Given the description of an element on the screen output the (x, y) to click on. 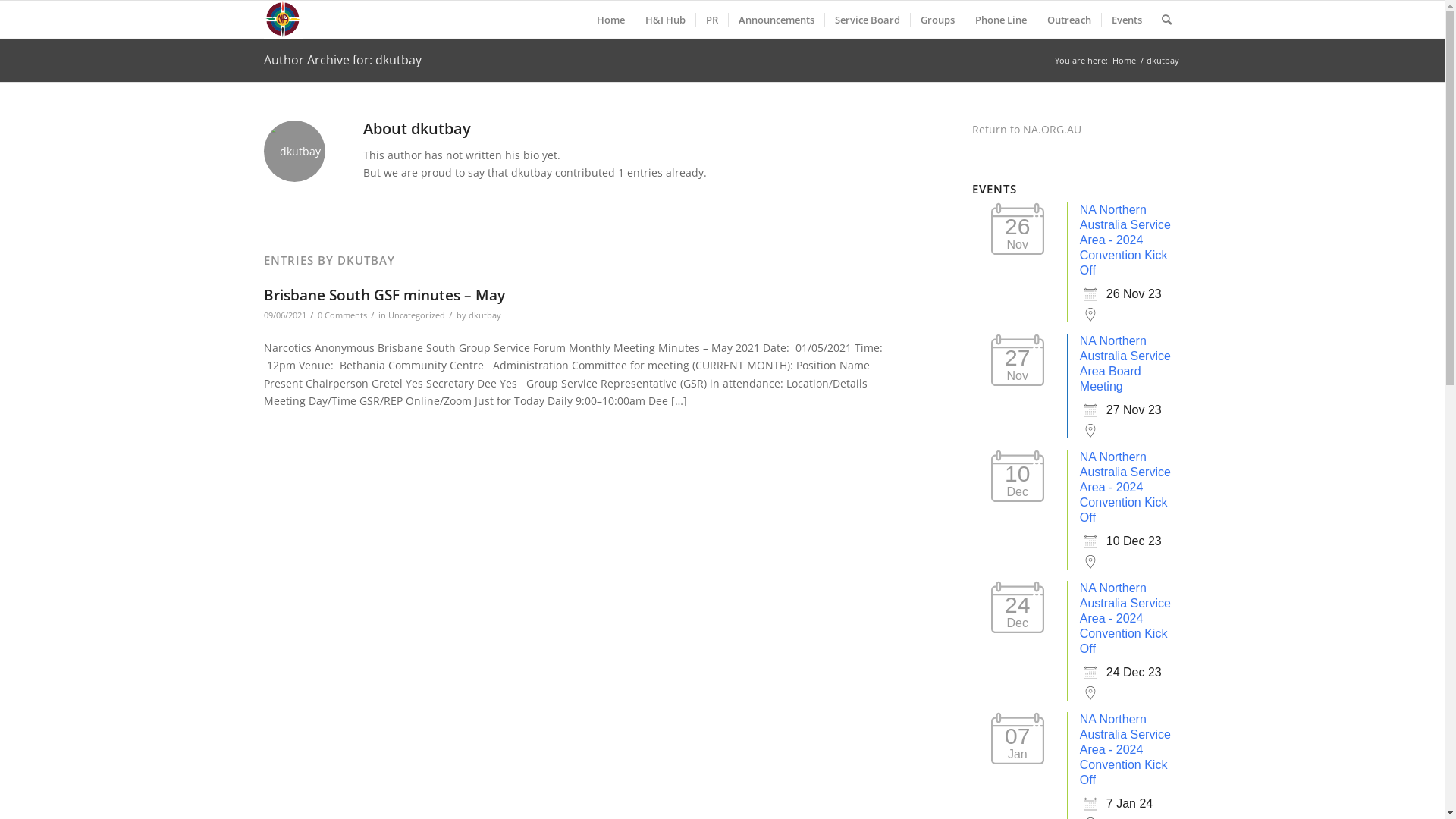
Announcements Element type: text (776, 19)
Phone Line Element type: text (1000, 19)
dkutbay Element type: text (484, 314)
Home Element type: text (1124, 59)
greaterqldlogo Element type: hover (283, 19)
0 Comments Element type: text (341, 314)
Return to NA.ORG.AU Element type: text (1026, 129)
Events Element type: text (1126, 19)
Service Board Element type: text (866, 19)
Home Element type: text (610, 19)
H&I Hub Element type: text (663, 19)
Groups Element type: text (937, 19)
Outreach Element type: text (1067, 19)
PR Element type: text (710, 19)
Uncategorized Element type: text (416, 314)
NA Northern Australia Service Area Board Meeting Element type: text (1124, 363)
